Given the description of an element on the screen output the (x, y) to click on. 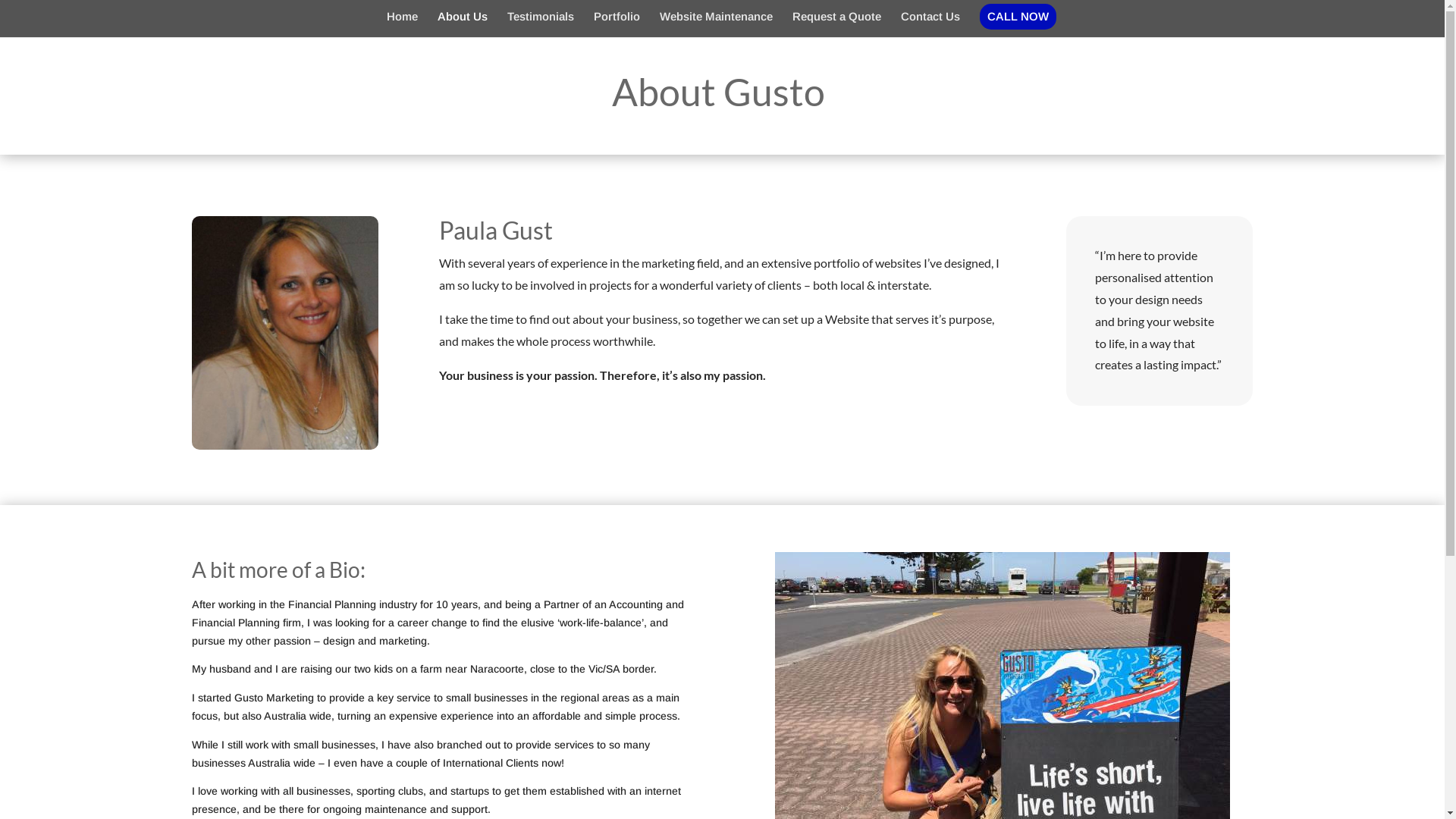
About Us Element type: text (462, 18)
CALL NOW Element type: text (1017, 16)
Testimonials Element type: text (540, 18)
Home Element type: text (401, 18)
Contact Us Element type: text (930, 18)
Website Maintenance Element type: text (715, 18)
Request a Quote Element type: text (836, 18)
Portfolio Element type: text (616, 18)
